Given the description of an element on the screen output the (x, y) to click on. 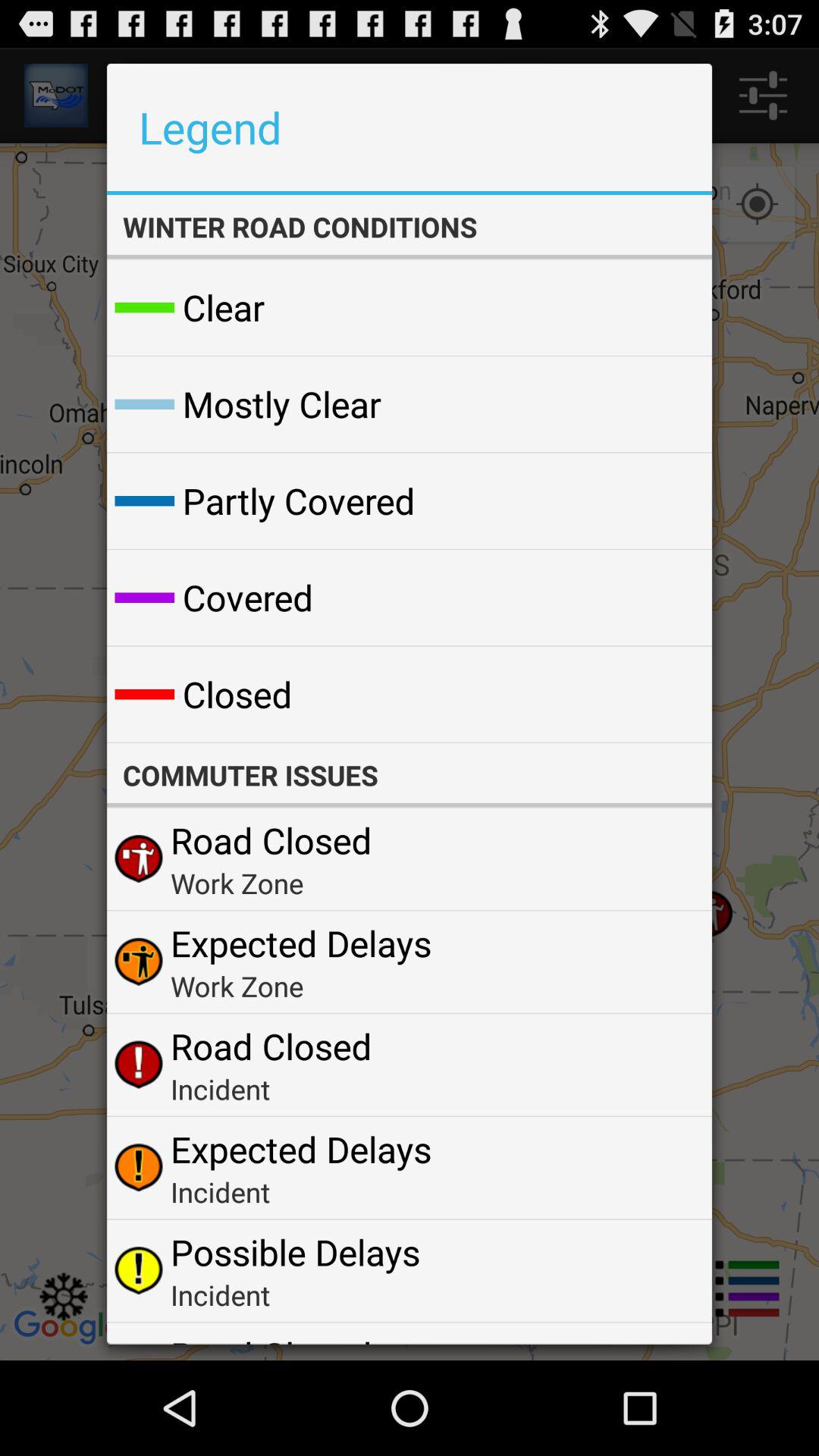
turn off the item next to the clear app (664, 307)
